Given the description of an element on the screen output the (x, y) to click on. 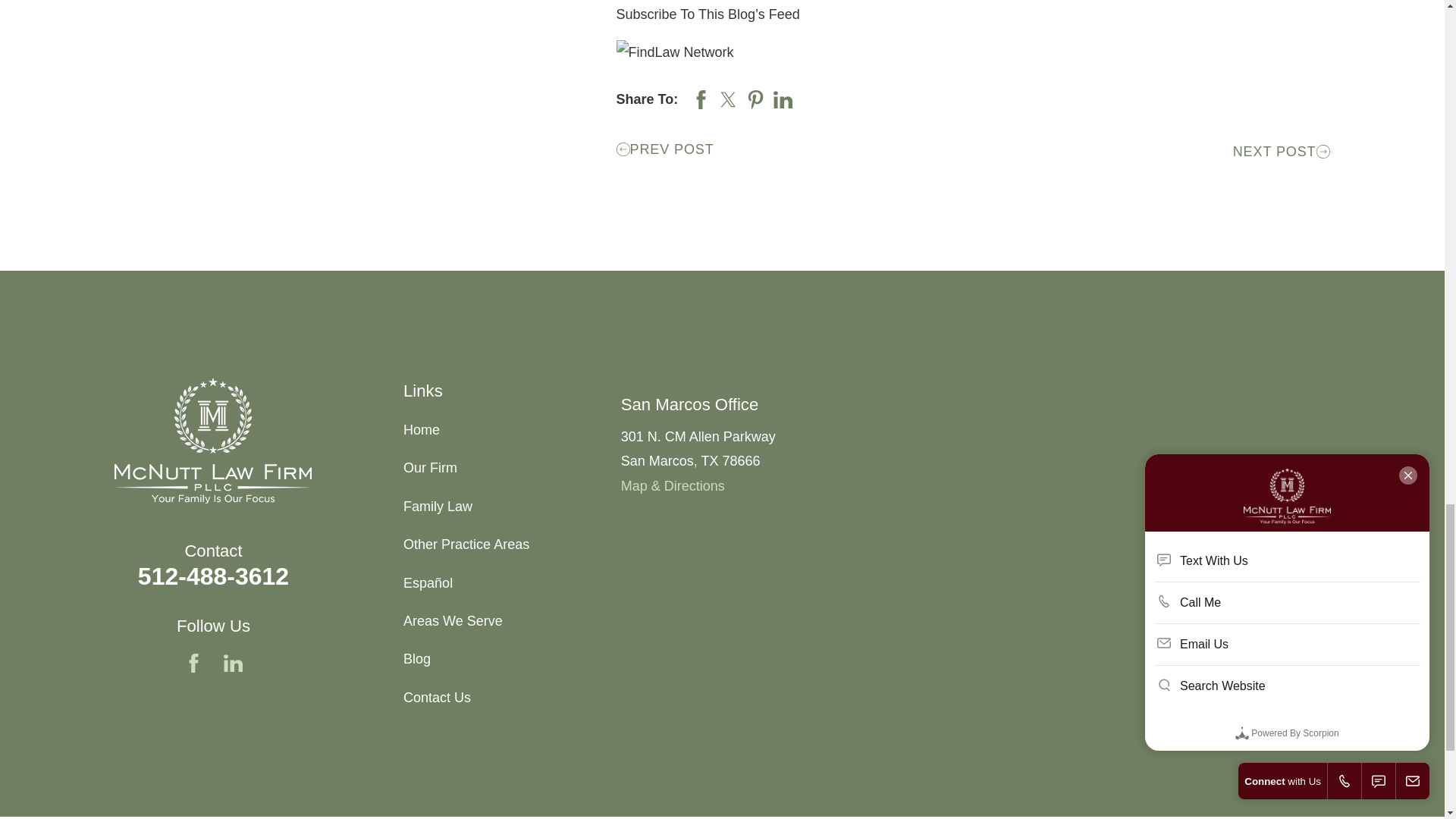
LinkedIn (233, 662)
Facebook (193, 662)
Home (213, 440)
